Given the description of an element on the screen output the (x, y) to click on. 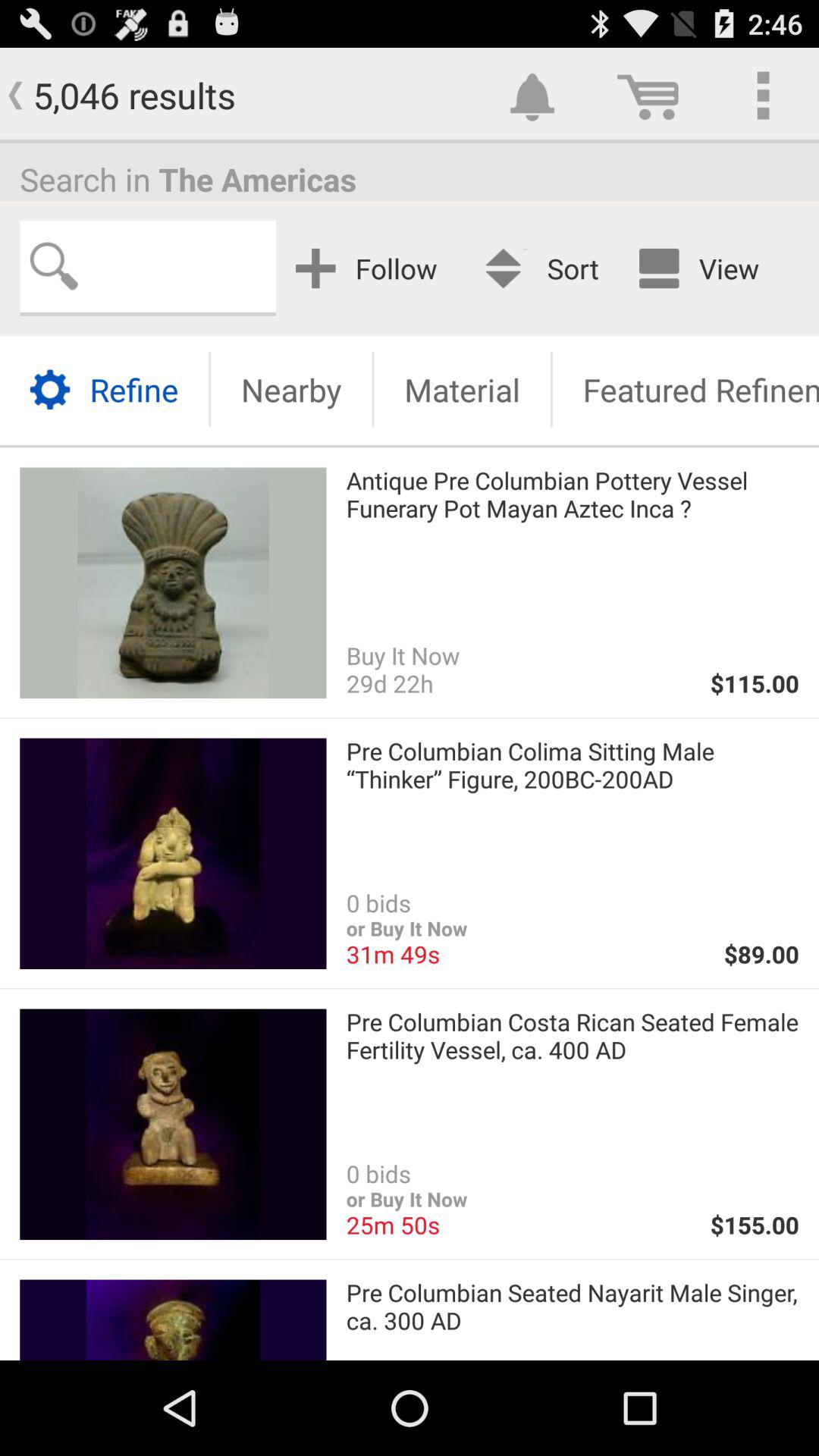
turn on app above antique pre columbian icon (462, 389)
